Given the description of an element on the screen output the (x, y) to click on. 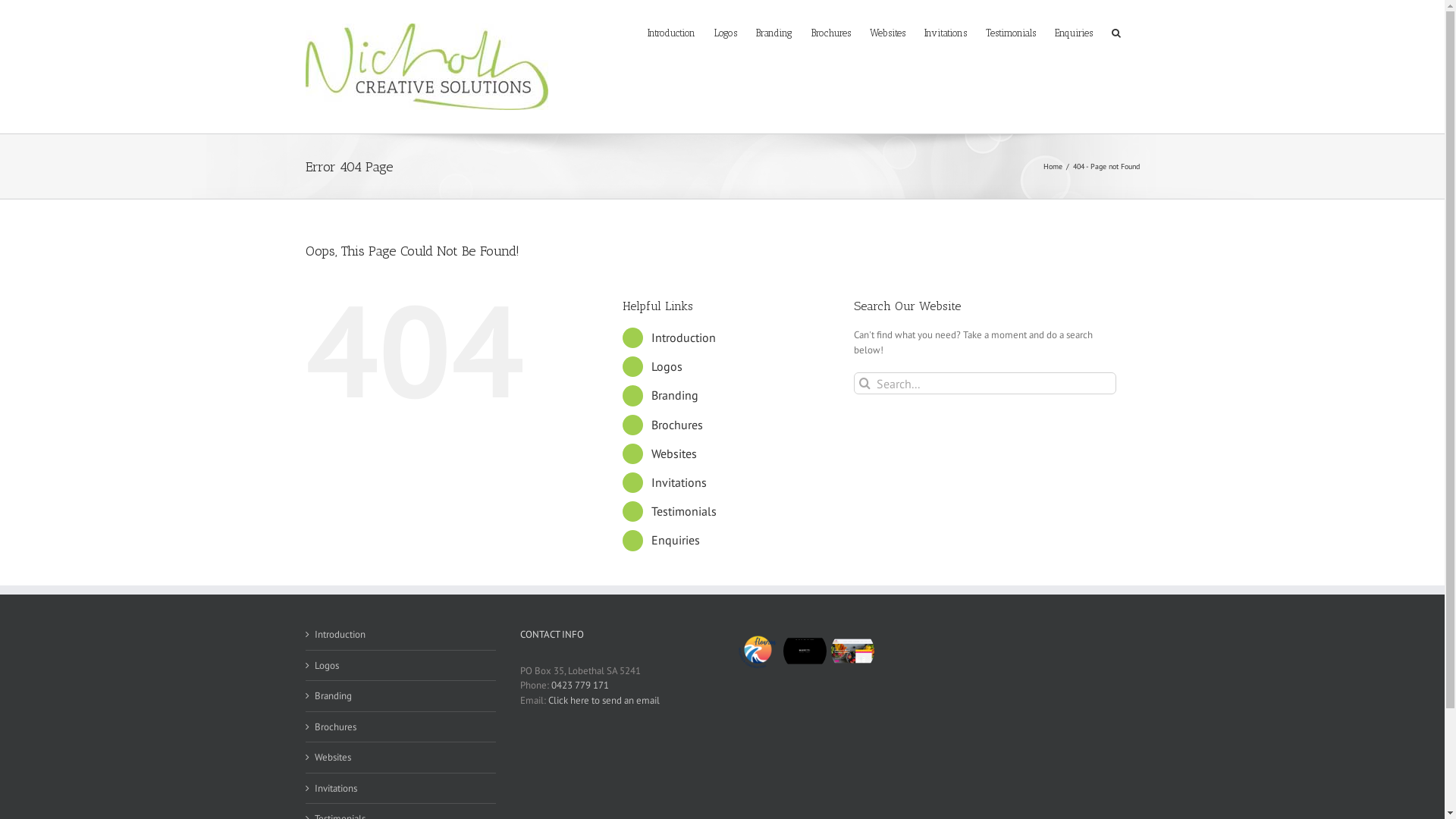
Branding Element type: text (674, 394)
Logos Element type: text (725, 31)
Mureti Boutique Element type: hover (805, 650)
Introduction Element type: text (683, 337)
0423 779 171 Element type: text (579, 684)
Enquiries Element type: text (675, 539)
Home Element type: text (1052, 166)
Websites Element type: text (400, 757)
Introduction Element type: text (400, 634)
Brochures Element type: text (830, 31)
Click here to send an email Element type: text (602, 699)
Logos Element type: text (400, 665)
Websites Element type: text (673, 453)
Websites Element type: text (886, 31)
Branding Element type: text (400, 695)
Search Element type: hover (1115, 31)
Invitations Element type: text (944, 31)
Branding Element type: text (773, 31)
Fleurieu Building & Construction Element type: hover (756, 650)
Logos Element type: text (666, 365)
Testimonials Element type: text (683, 510)
Testimonials Element type: text (1010, 31)
Enquiries Element type: text (1073, 31)
The Food Expert Element type: hover (852, 650)
Introduction Element type: text (671, 31)
Brochures Element type: text (676, 424)
Invitations Element type: text (678, 481)
Invitations Element type: text (400, 788)
Brochures Element type: text (400, 726)
